Given the description of an element on the screen output the (x, y) to click on. 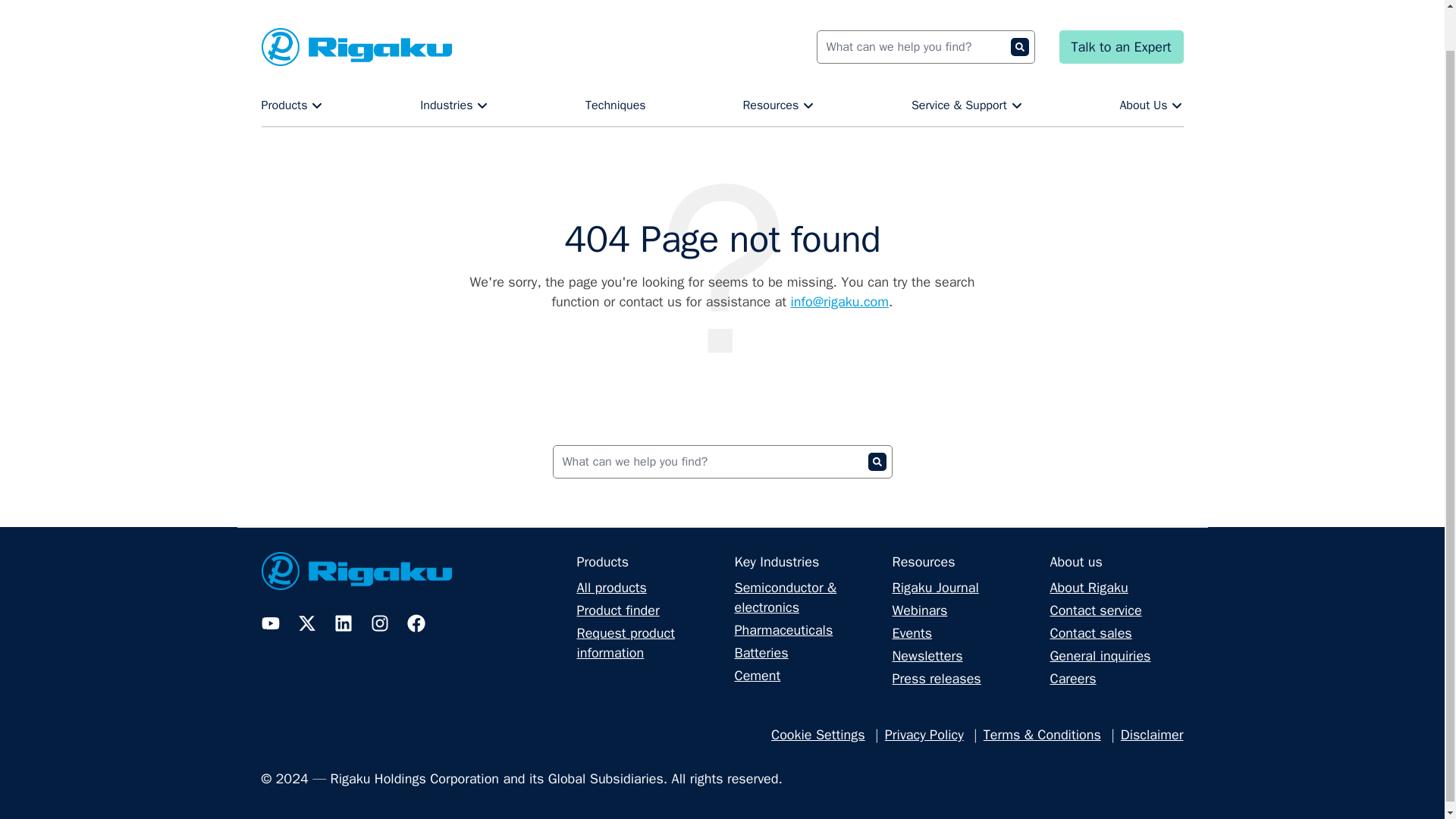
Industries (453, 61)
Products (291, 61)
Talk to an Expert (1121, 10)
Techniques (615, 61)
Resources (777, 61)
About Us (1150, 61)
